Given the description of an element on the screen output the (x, y) to click on. 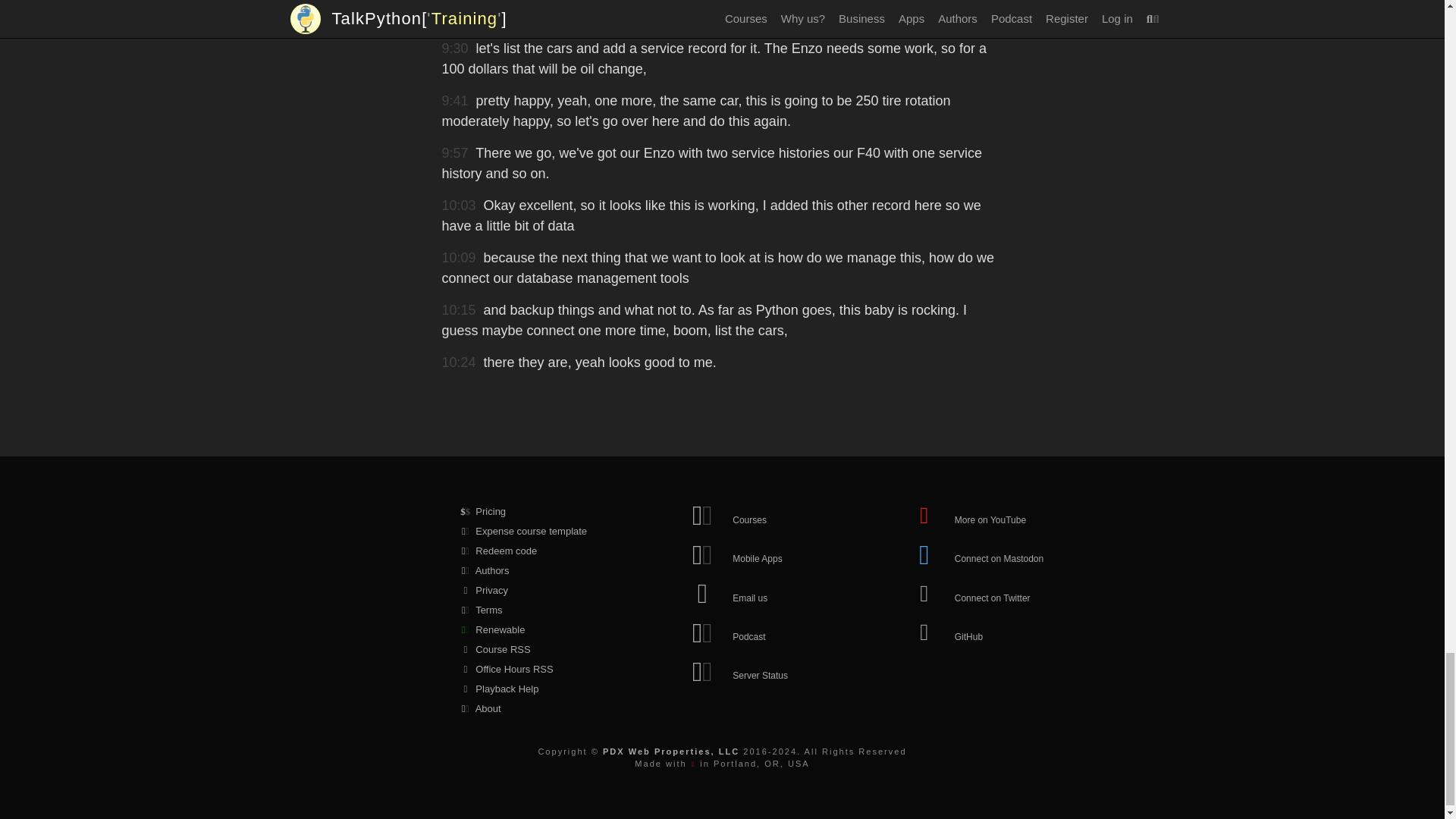
Podcast (758, 630)
Pricing policies and group discounts (537, 511)
Renewable (537, 629)
Subscribe to us on YouTube (981, 513)
Courses (758, 513)
Playback Help (537, 689)
Follow us on Twitter (981, 591)
The Talk Python GitHub organization (981, 630)
Office Hours RSS (537, 669)
Email us (758, 591)
